Given the description of an element on the screen output the (x, y) to click on. 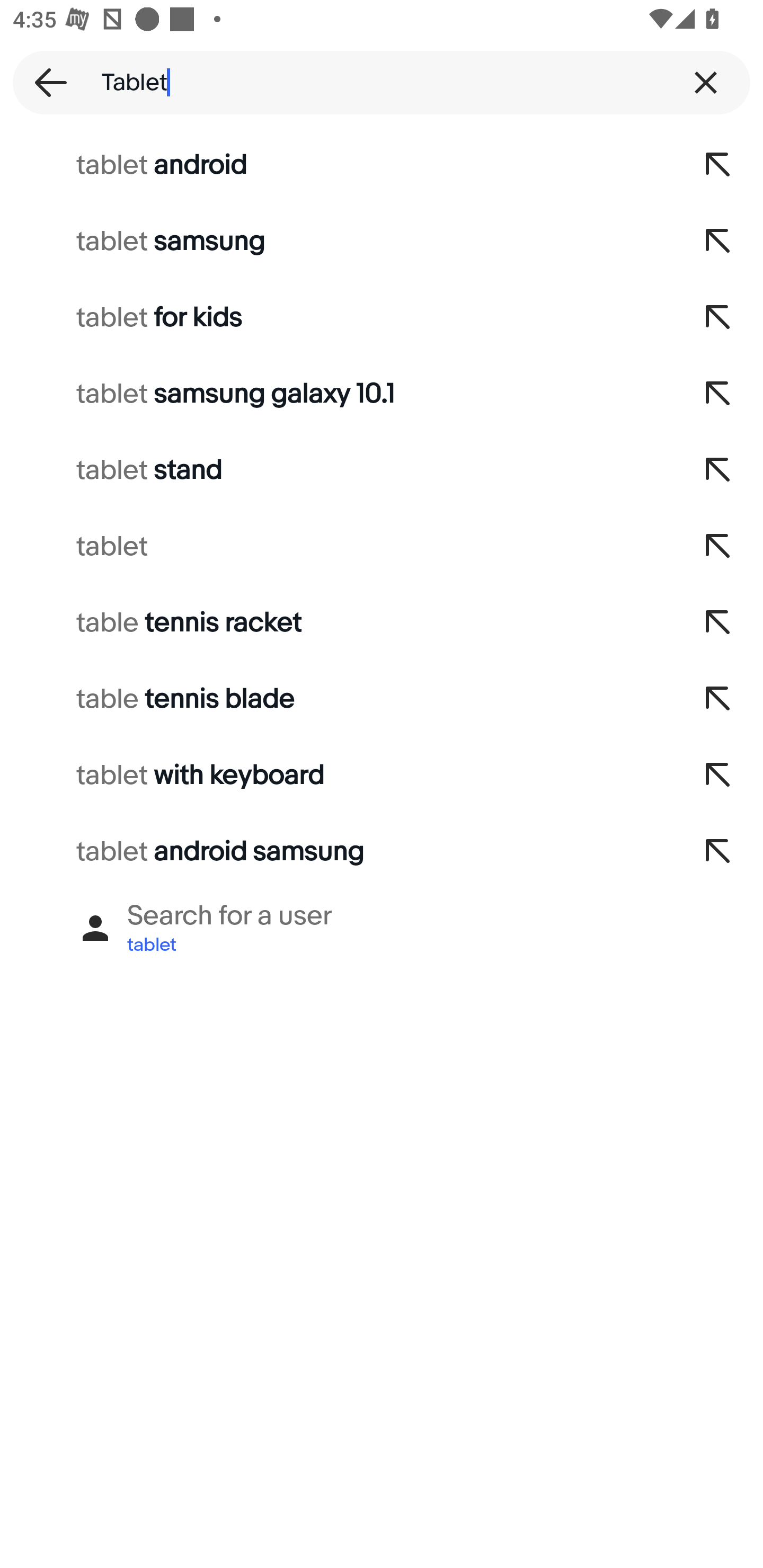
Back (44, 82)
Clear query (705, 82)
Tablet (381, 82)
tablet android (336, 165)
Add to search query,tablet android (718, 165)
tablet samsung (336, 241)
Add to search query,tablet samsung (718, 241)
tablet for kids (336, 317)
Add to search query,tablet for kids (718, 317)
tablet samsung galaxy 10.1 (336, 393)
Add to search query,tablet samsung galaxy 10.1 (718, 393)
tablet stand (336, 470)
Add to search query,tablet stand (718, 470)
tablet (336, 546)
Add to search query,tablet (718, 546)
table tennis racket (336, 622)
Add to search query,table tennis racket (718, 622)
table tennis blade (336, 698)
Add to search query,table tennis blade (718, 698)
tablet with keyboard (336, 774)
